Given the description of an element on the screen output the (x, y) to click on. 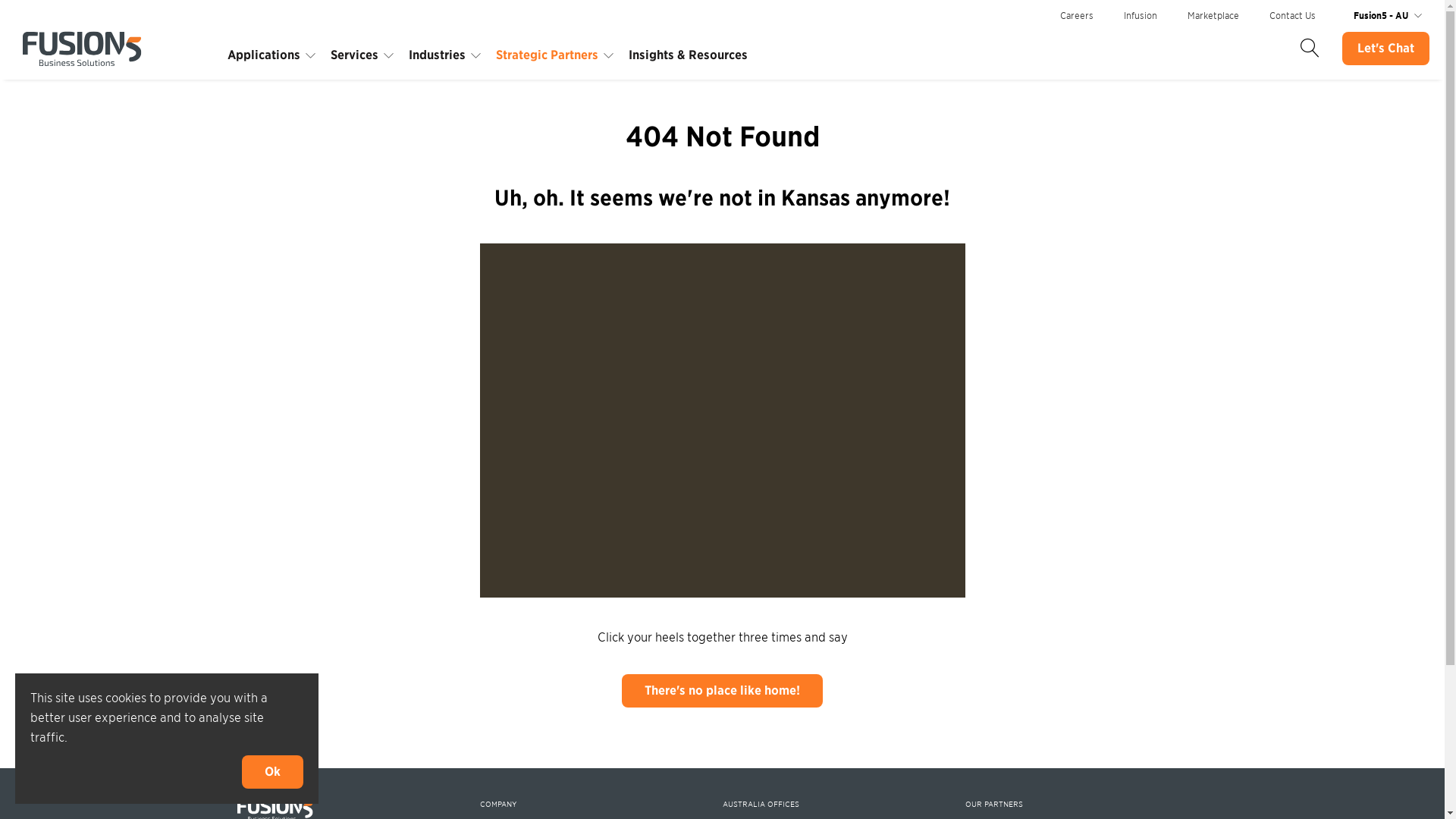
Ok Element type: text (272, 771)
Infusion Element type: text (1140, 15)
Insights & Resources Element type: text (695, 55)
Contact Us Element type: text (1292, 15)
Industries Element type: text (444, 55)
Let's Chat Element type: text (1385, 48)
Strategic Partners Element type: text (554, 55)
There's no place like home! Element type: text (721, 688)
Applications Element type: text (271, 55)
Careers Element type: text (1076, 15)
Services Element type: text (362, 55)
Fusion5 Element type: text (82, 50)
Search Element type: hover (1309, 48)
Marketplace Element type: text (1213, 15)
